Given the description of an element on the screen output the (x, y) to click on. 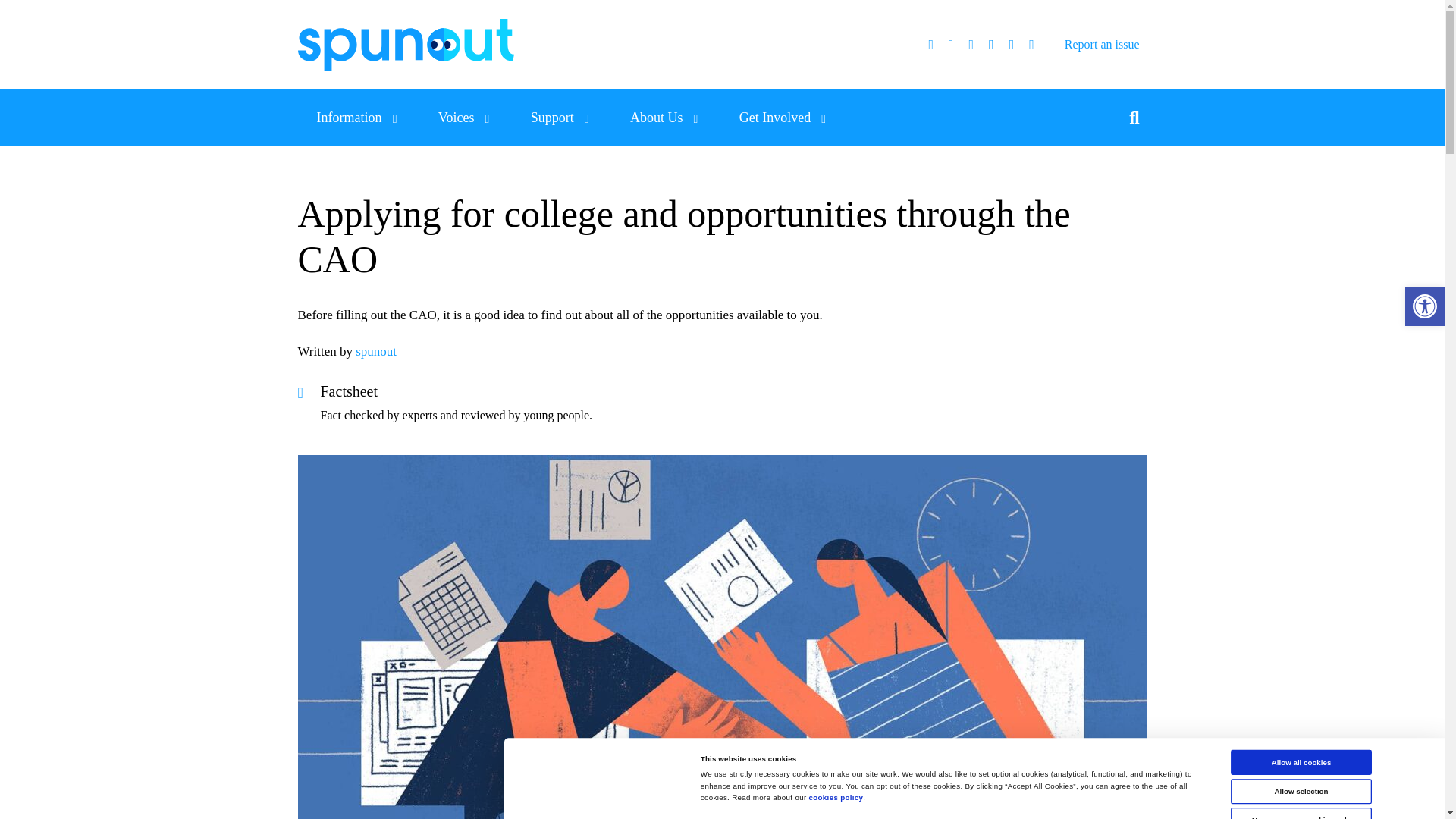
cookies policy (849, 800)
Accessibility Tools (1424, 306)
